Given the description of an element on the screen output the (x, y) to click on. 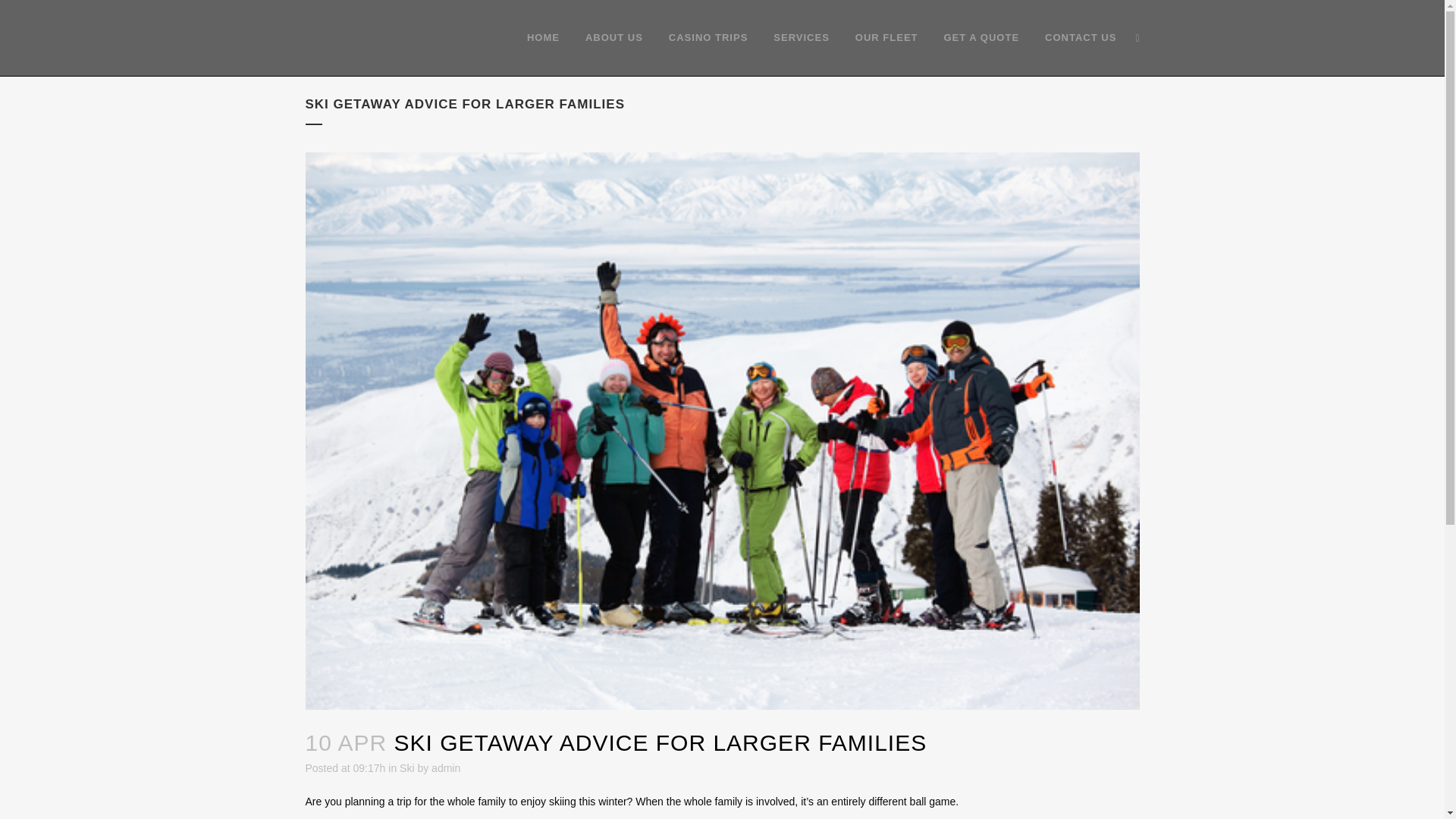
CONTACT US (1080, 38)
Ski (405, 767)
SERVICES (801, 38)
CASINO TRIPS (708, 38)
ABOUT US (614, 38)
OUR FLEET (887, 38)
GET A QUOTE (981, 38)
